Given the description of an element on the screen output the (x, y) to click on. 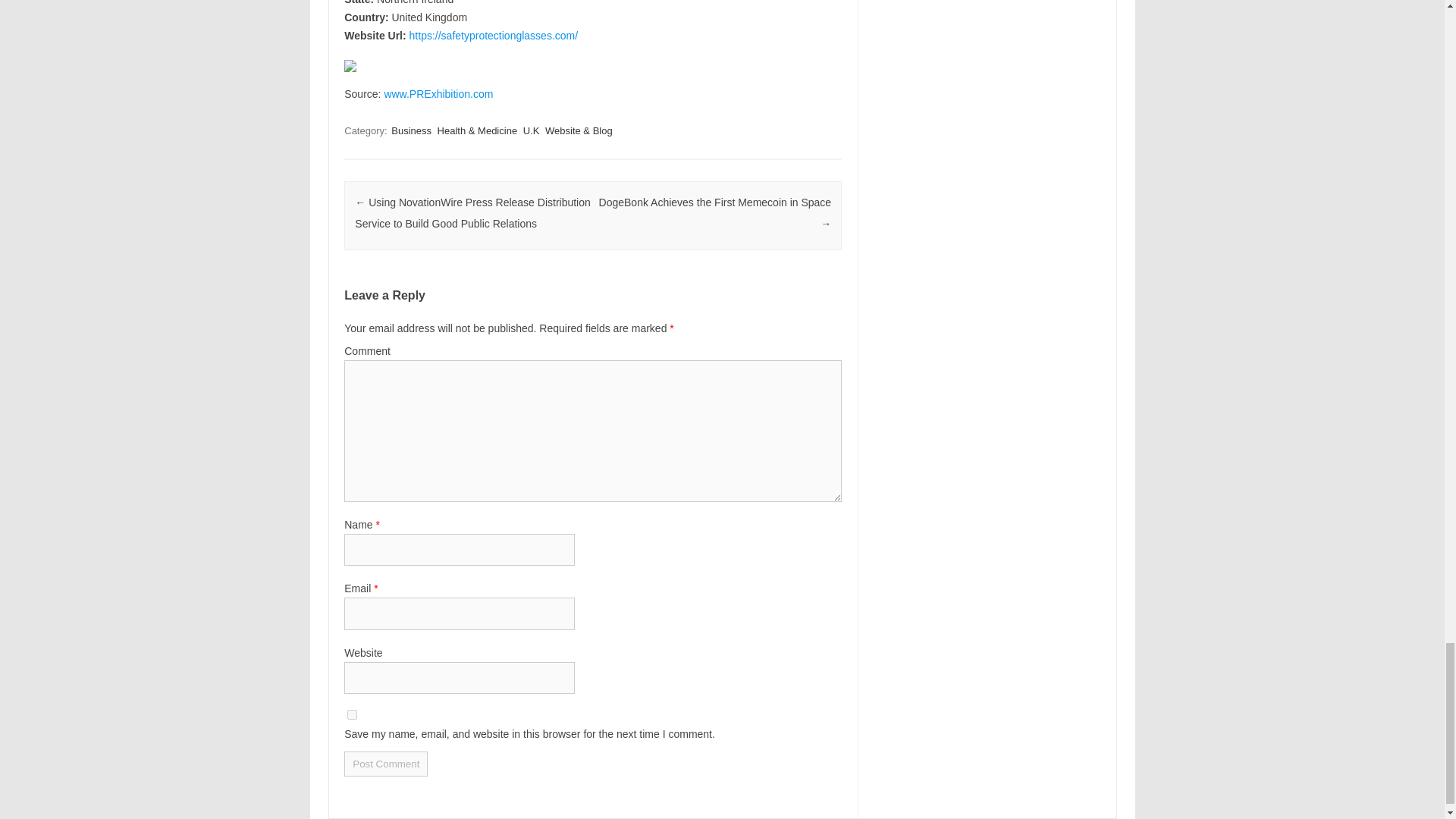
Post Comment (385, 763)
U.K (531, 130)
Post Comment (385, 763)
yes (351, 714)
www.PRExhibition.com (438, 93)
Business (411, 130)
